Given the description of an element on the screen output the (x, y) to click on. 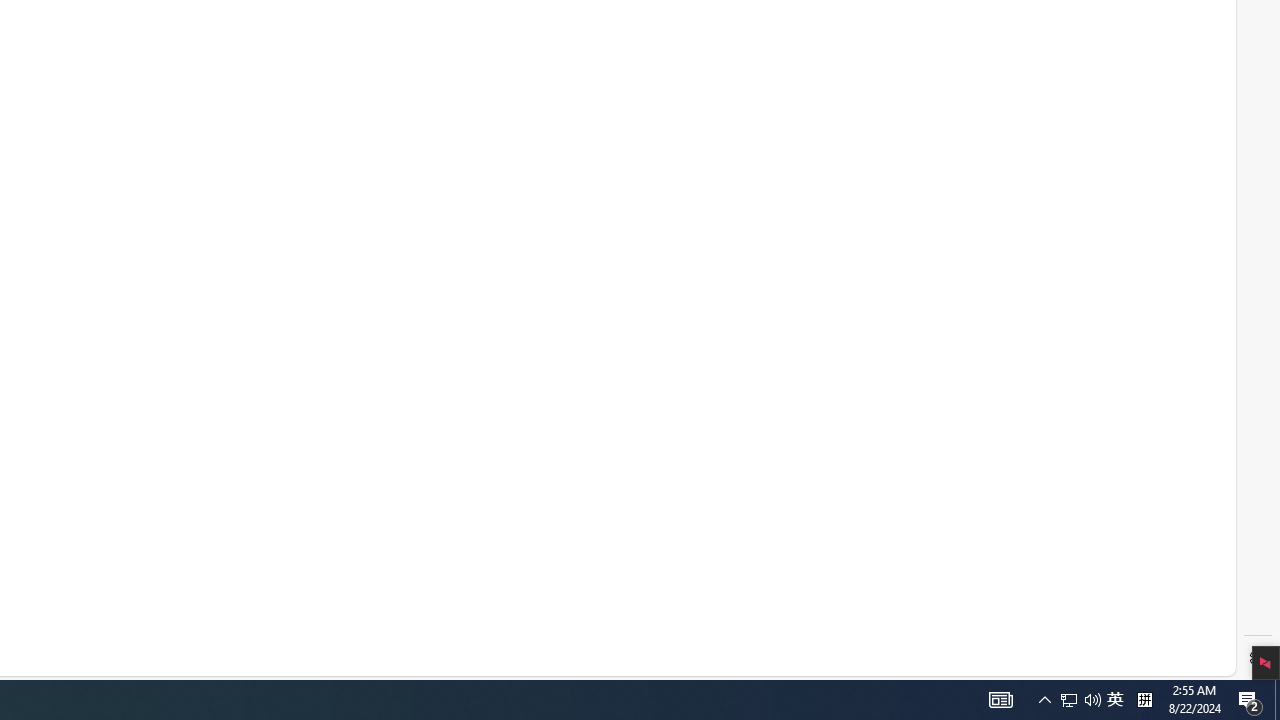
Settings (1258, 658)
